Given the description of an element on the screen output the (x, y) to click on. 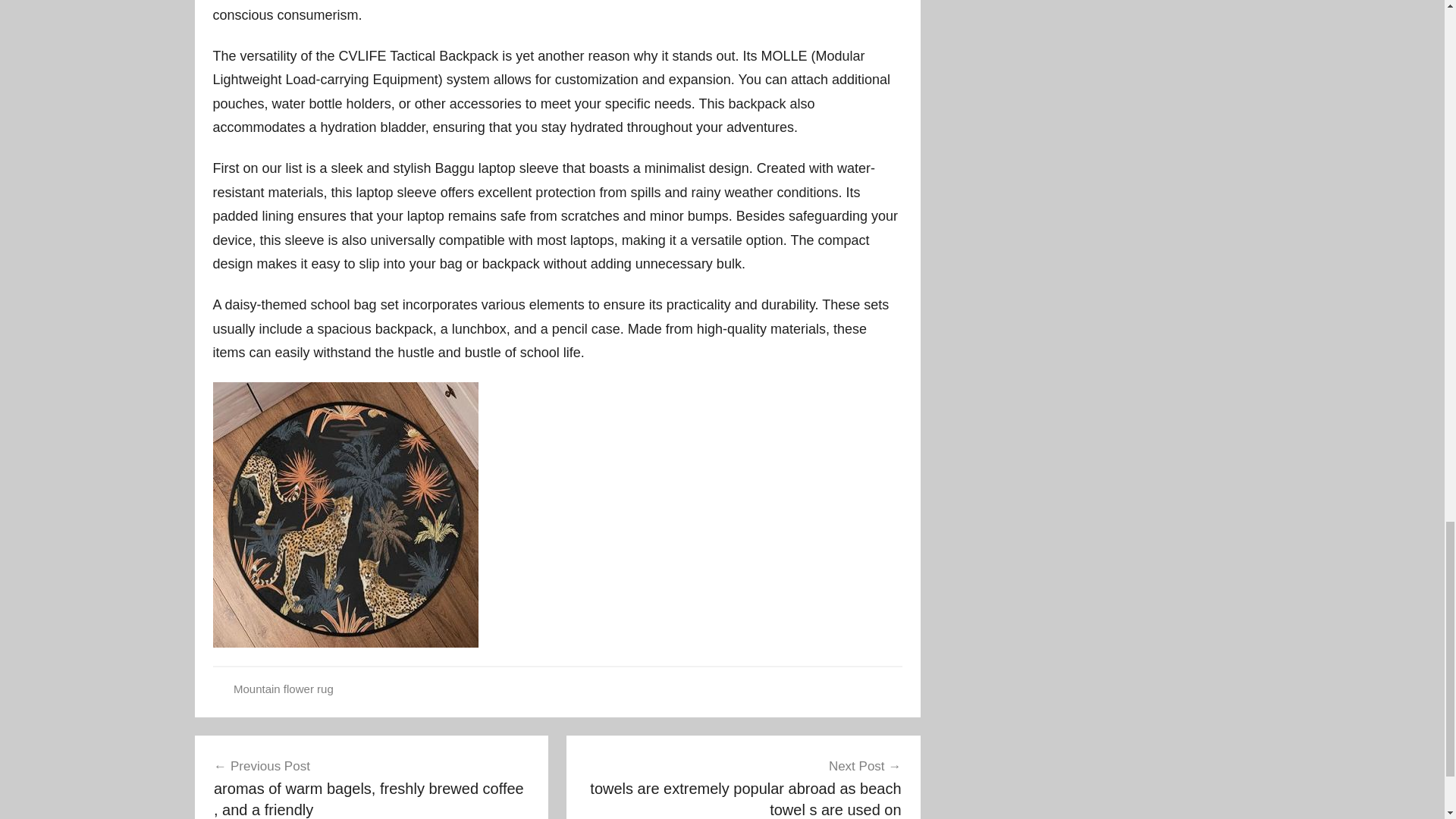
Mountain flower rug (282, 688)
